Given the description of an element on the screen output the (x, y) to click on. 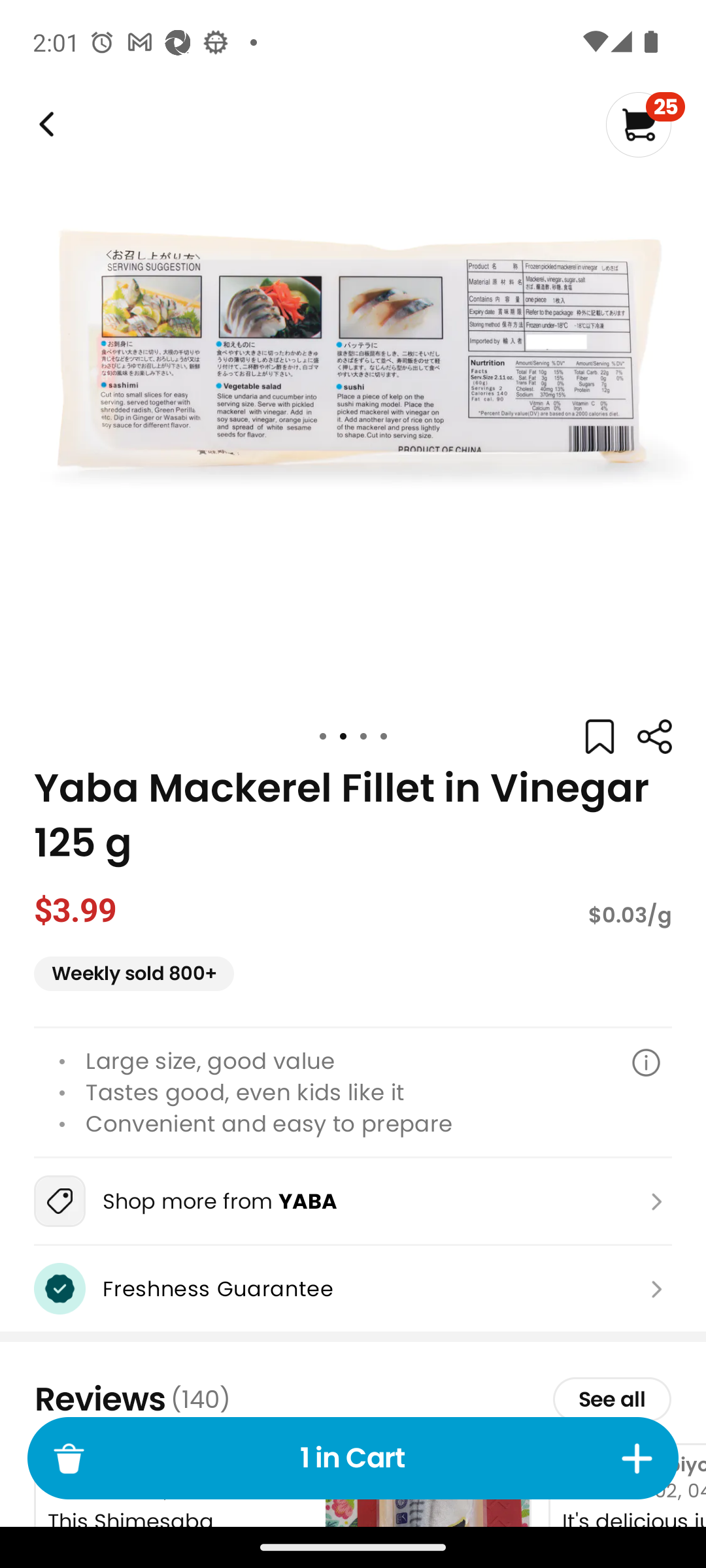
25 (644, 124)
Weee! (45, 124)
Weee! (653, 736)
Shop more from YABA Weee! (352, 1200)
Freshness Guarantee (352, 1288)
Reviews (140) See all (353, 1399)
1 in Cart (352, 1458)
